Given the description of an element on the screen output the (x, y) to click on. 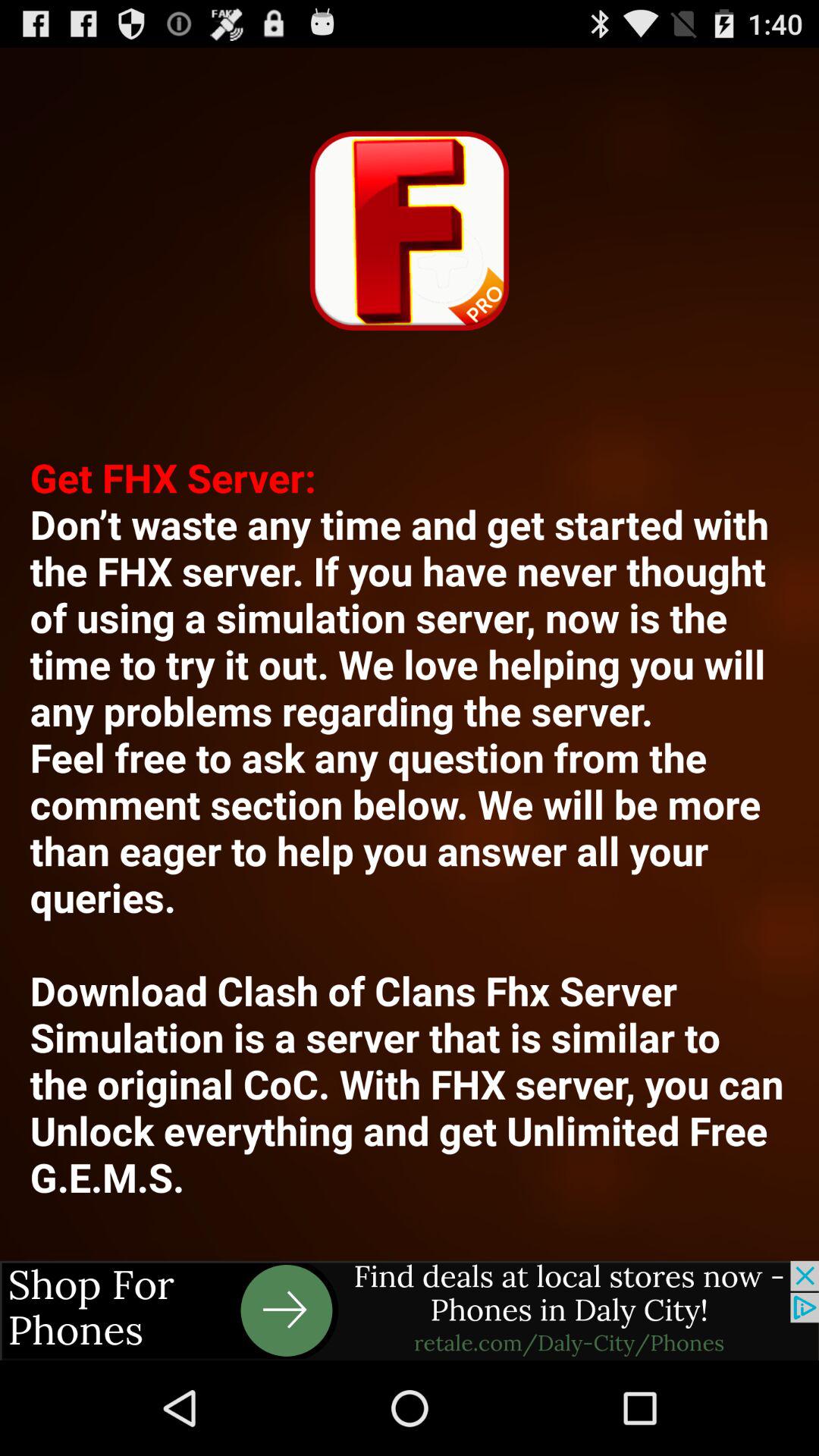
visit sponsor advertisement (409, 1310)
